Given the description of an element on the screen output the (x, y) to click on. 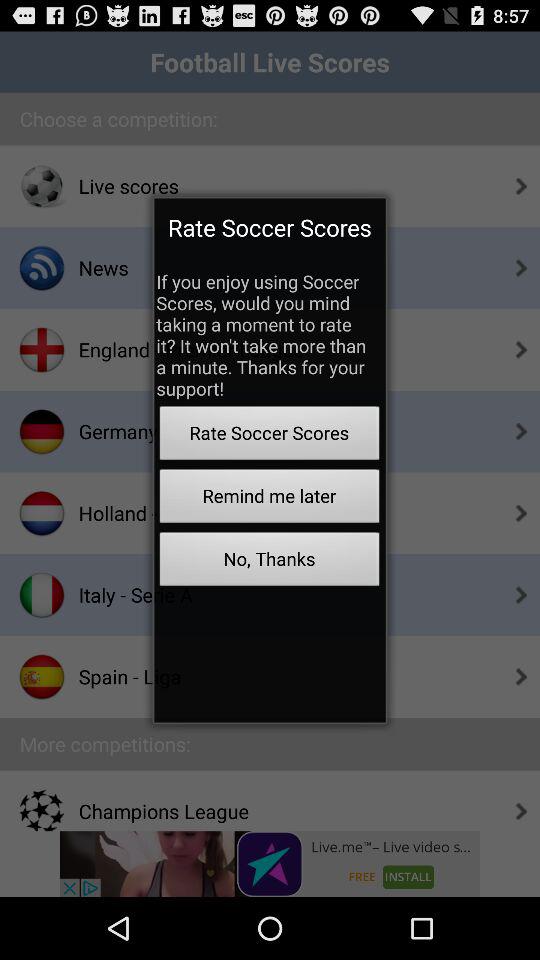
press button below the rate soccer scores icon (269, 498)
